Given the description of an element on the screen output the (x, y) to click on. 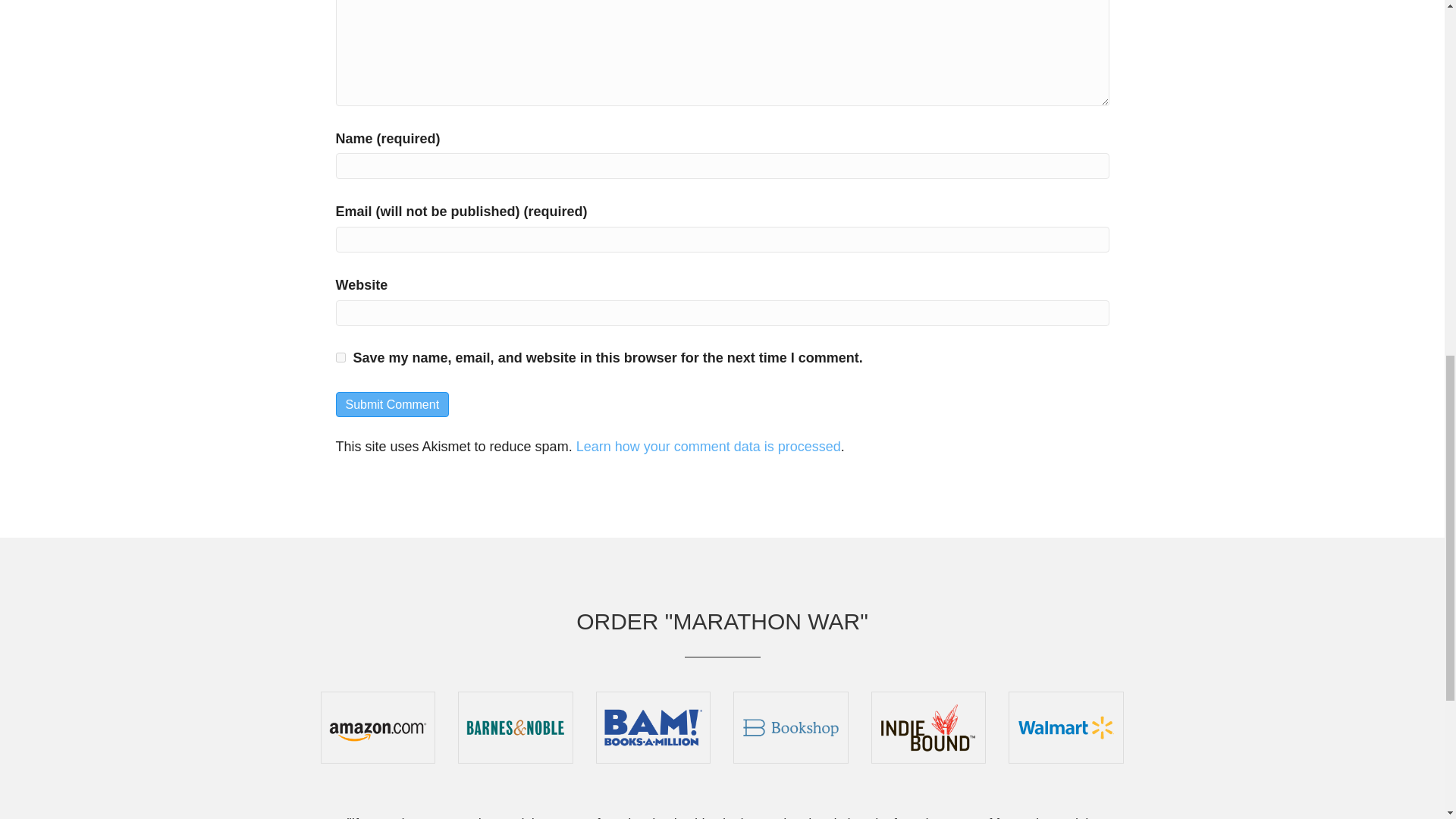
yes (339, 357)
Submit Comment (391, 404)
Learn how your comment data is processed (708, 446)
Submit Comment (391, 404)
